Given the description of an element on the screen output the (x, y) to click on. 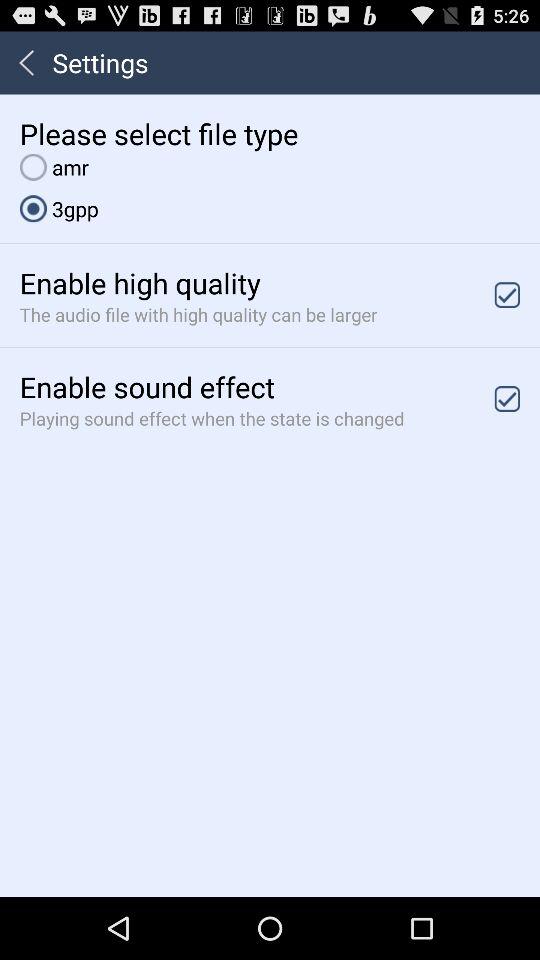
toggle enable sound effect (507, 398)
